Given the description of an element on the screen output the (x, y) to click on. 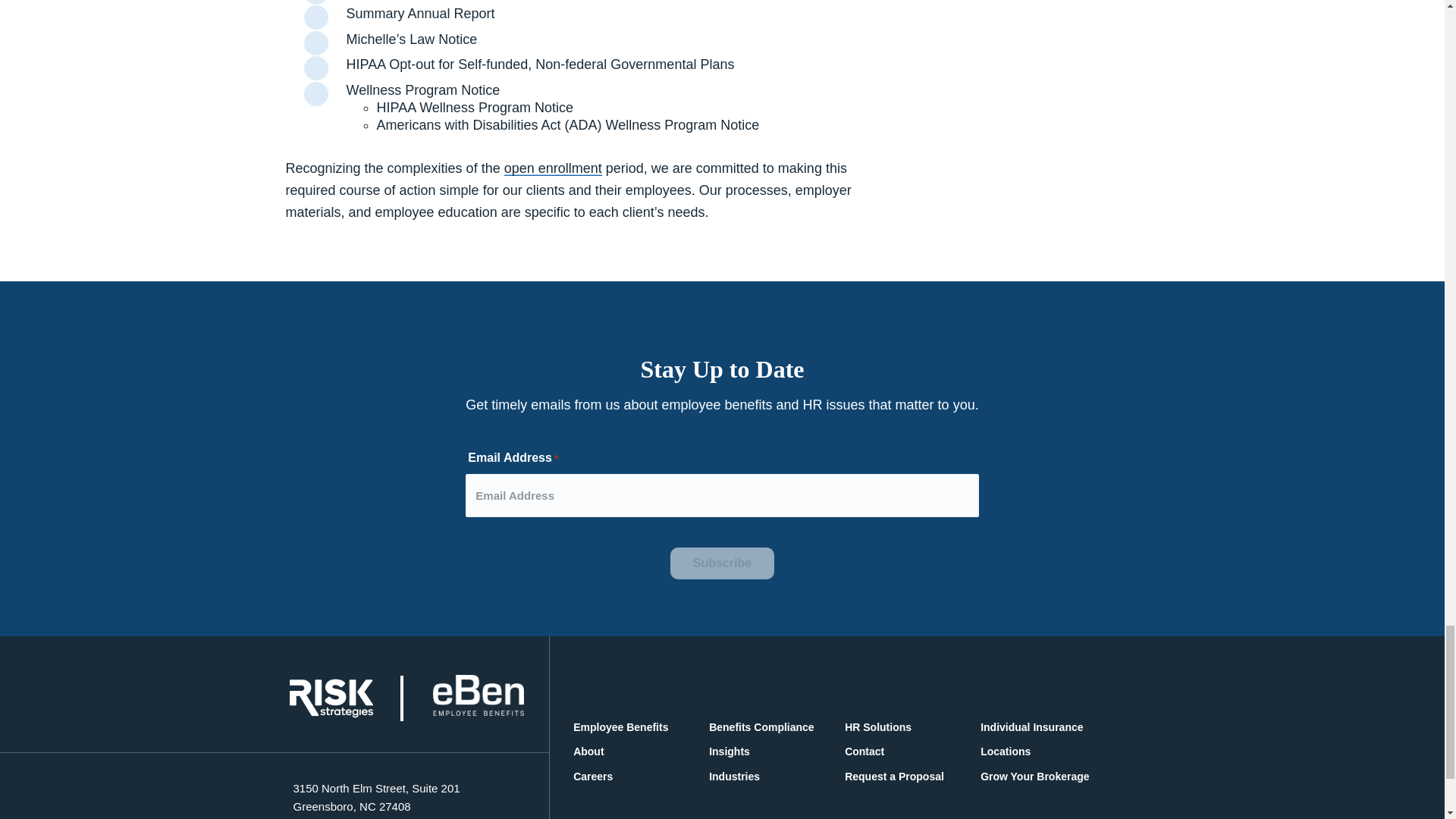
Subscribe (721, 563)
